Given the description of an element on the screen output the (x, y) to click on. 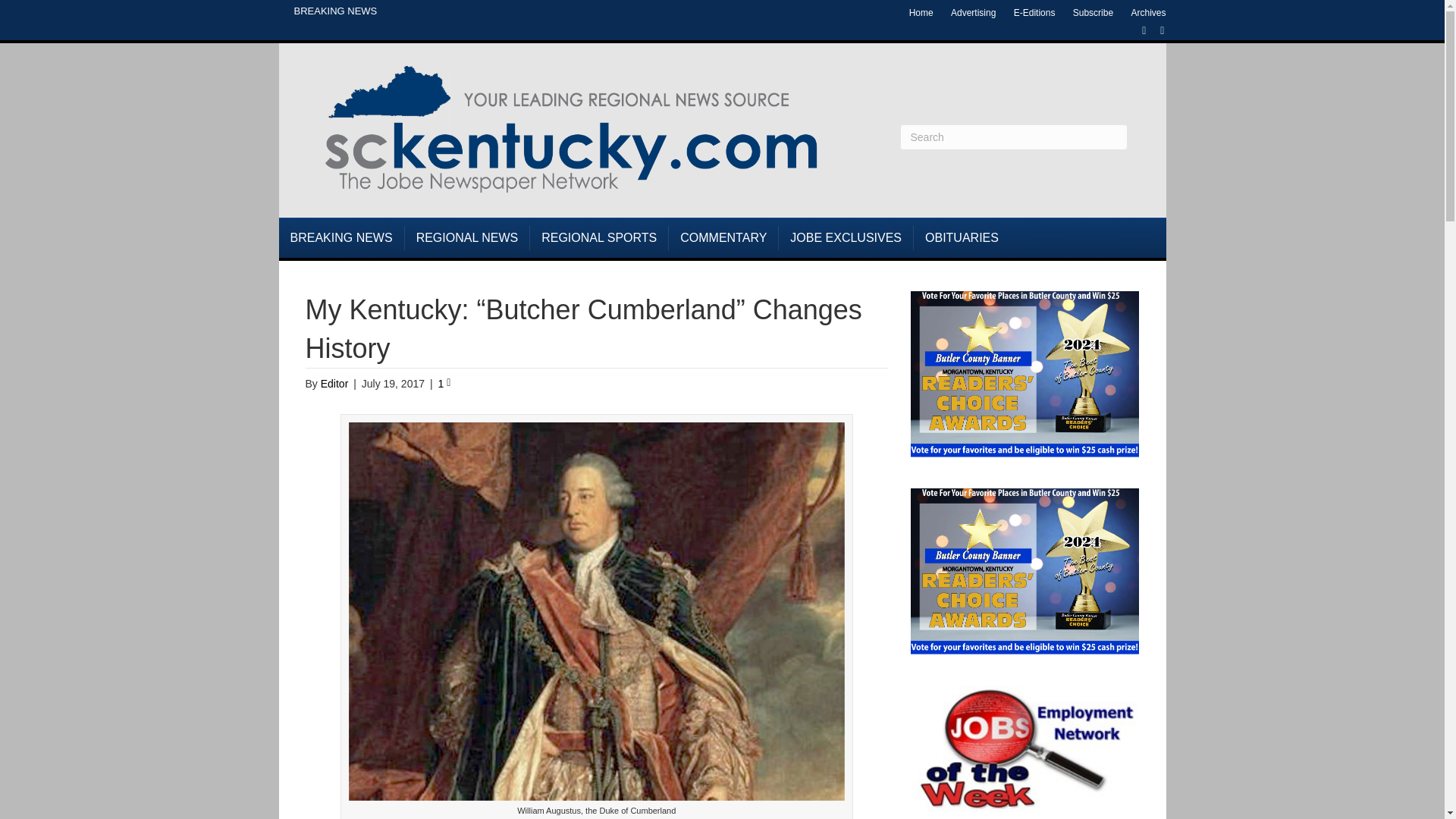
Facebook (1135, 30)
E-Editions (1034, 13)
Subscribe (1093, 13)
Home (920, 13)
Advertising (973, 13)
Email (1154, 30)
Archives (1147, 13)
Type and press Enter to search. (1012, 136)
